Given the description of an element on the screen output the (x, y) to click on. 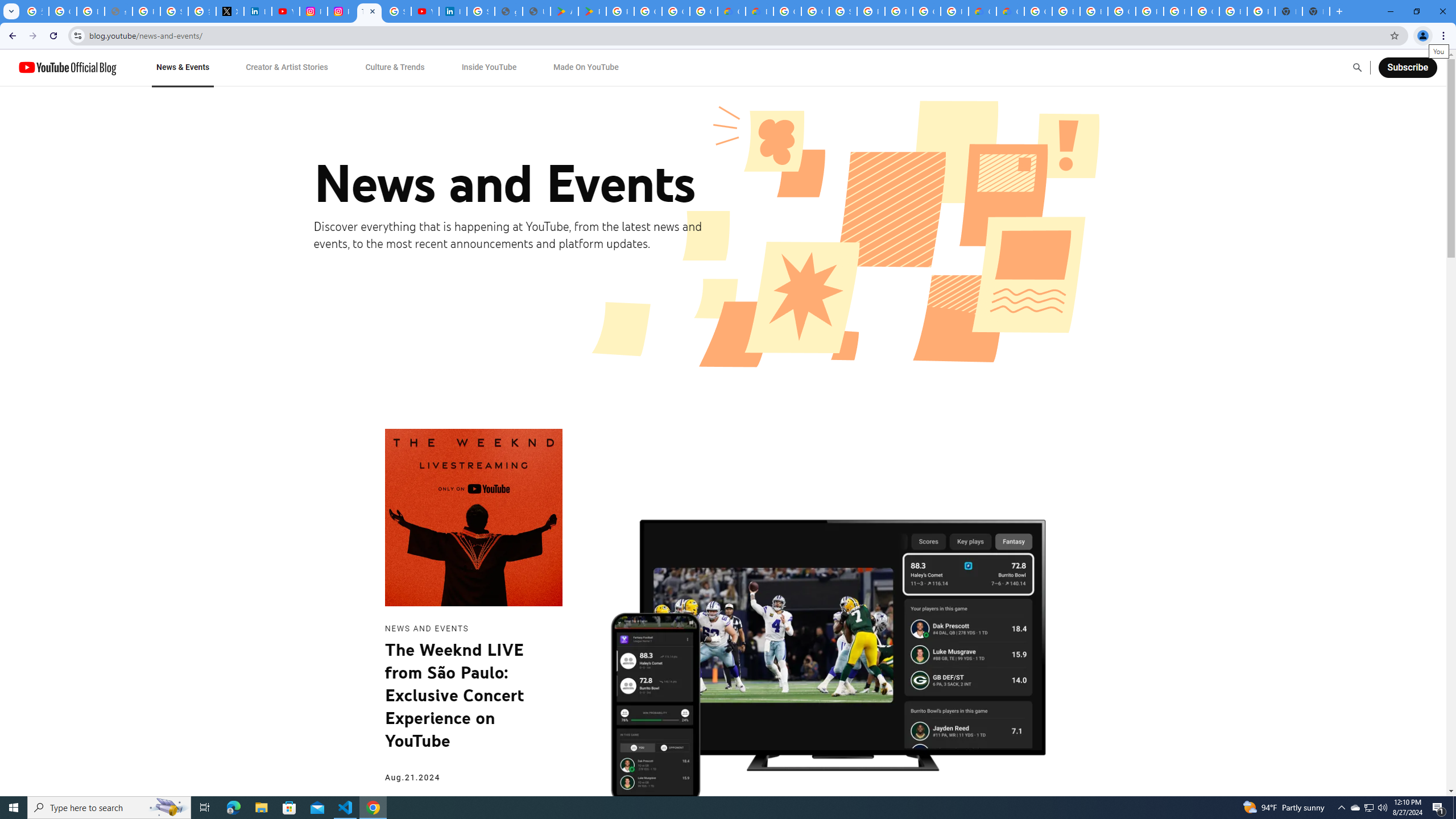
support.google.com - Network error (118, 11)
Google Cloud Platform (1205, 11)
Android Apps on Google Play (564, 11)
Sign in - Google Accounts (174, 11)
Inside YouTube (488, 67)
Culture & Trends (395, 67)
Google Cloud Platform (1038, 11)
Customer Care | Google Cloud (731, 11)
